Given the description of an element on the screen output the (x, y) to click on. 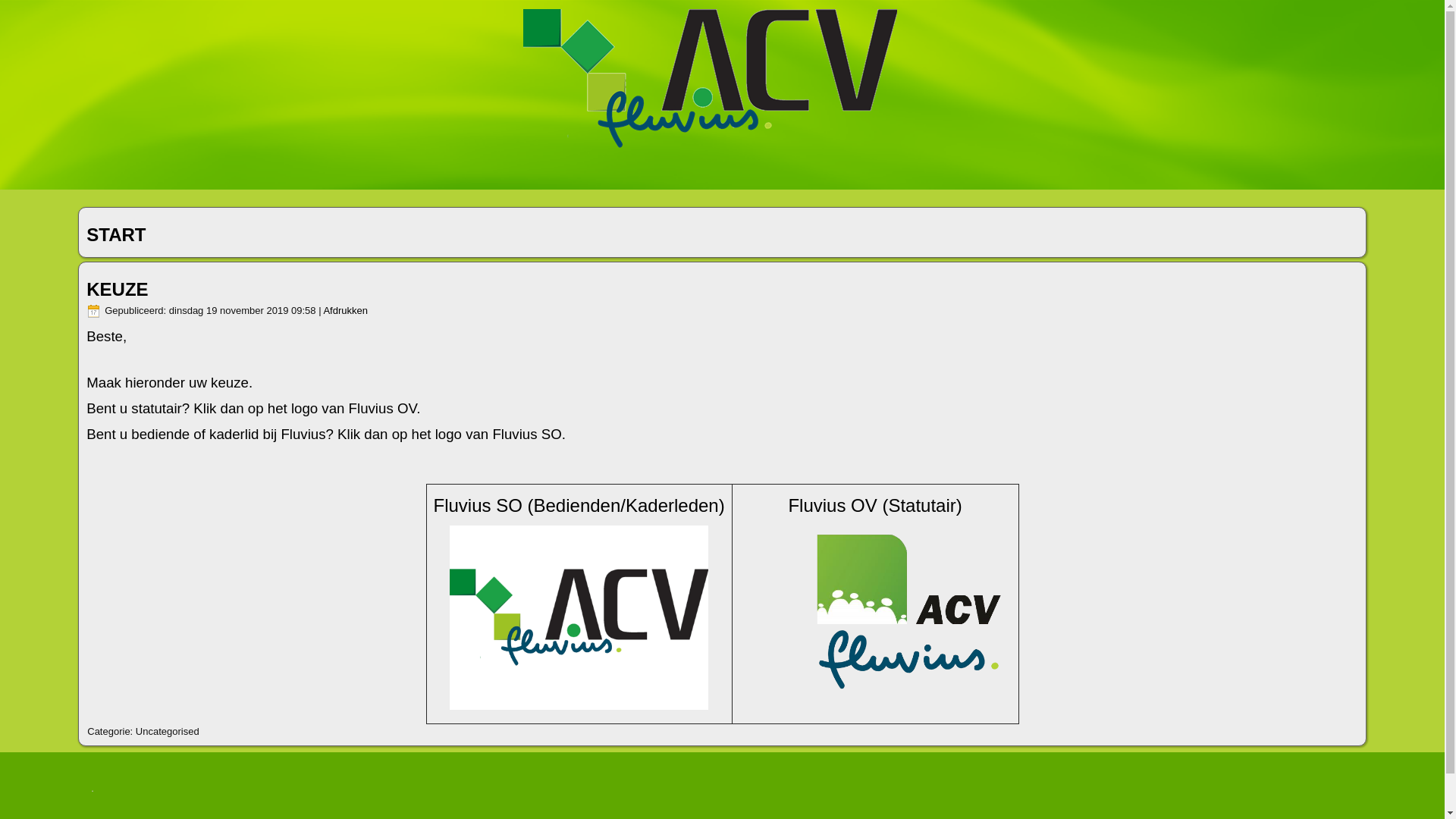
Fluvius SO (Bedienden/Kaderleden) Element type: text (578, 505)
KEUZE Element type: text (116, 289)
Afdrukken Element type: text (345, 310)
Fluvius OV (Statutair) Element type: text (874, 505)
